Given the description of an element on the screen output the (x, y) to click on. 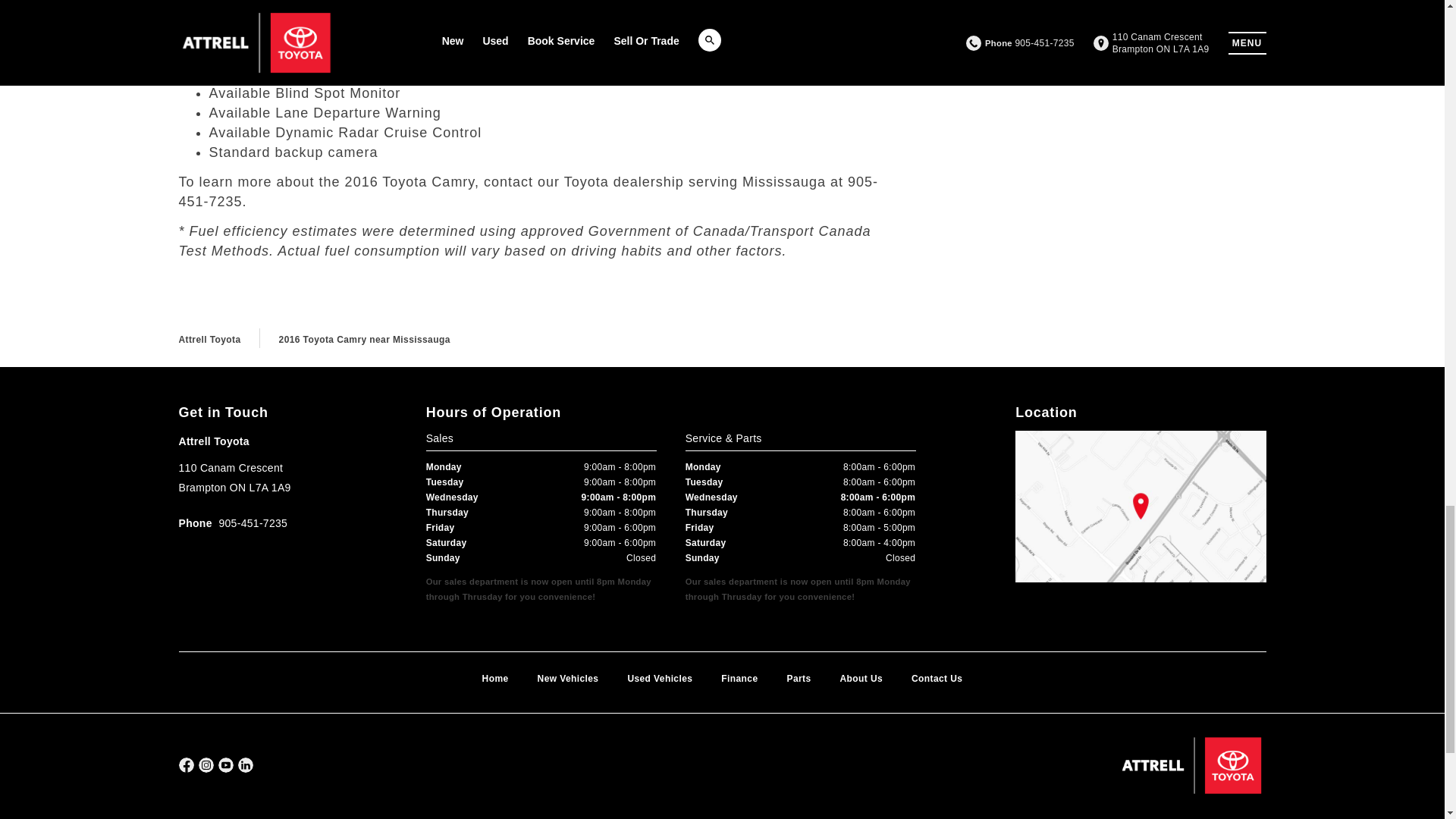
Location Image Map (1139, 506)
Contact Attrell Toyota (583, 181)
Call 905-451-7235 (233, 523)
Mississauga area Toyota dealer (233, 23)
Go to Attrell Toyota. (210, 339)
